Given the description of an element on the screen output the (x, y) to click on. 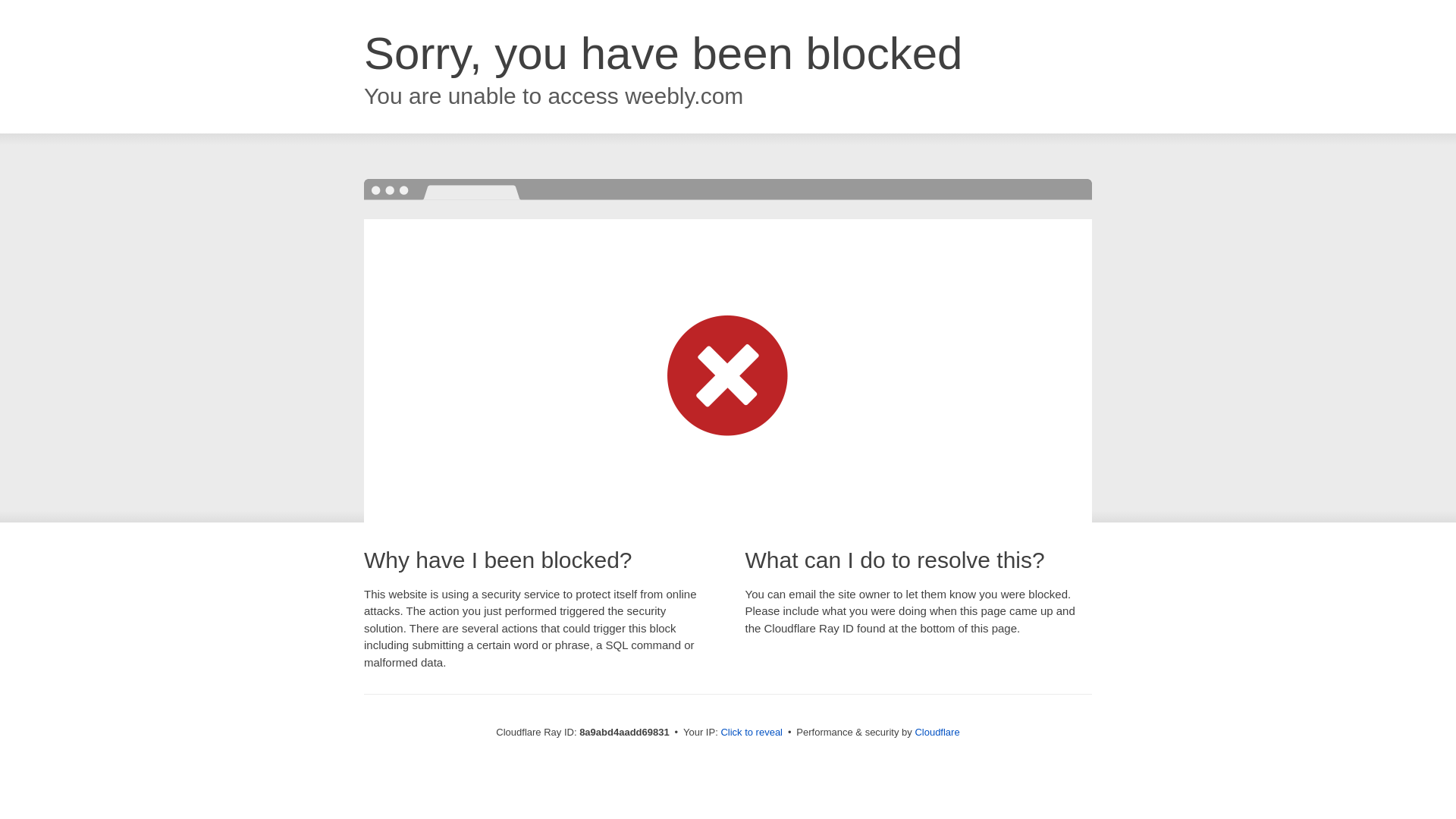
Cloudflare (936, 731)
Click to reveal (751, 732)
